Given the description of an element on the screen output the (x, y) to click on. 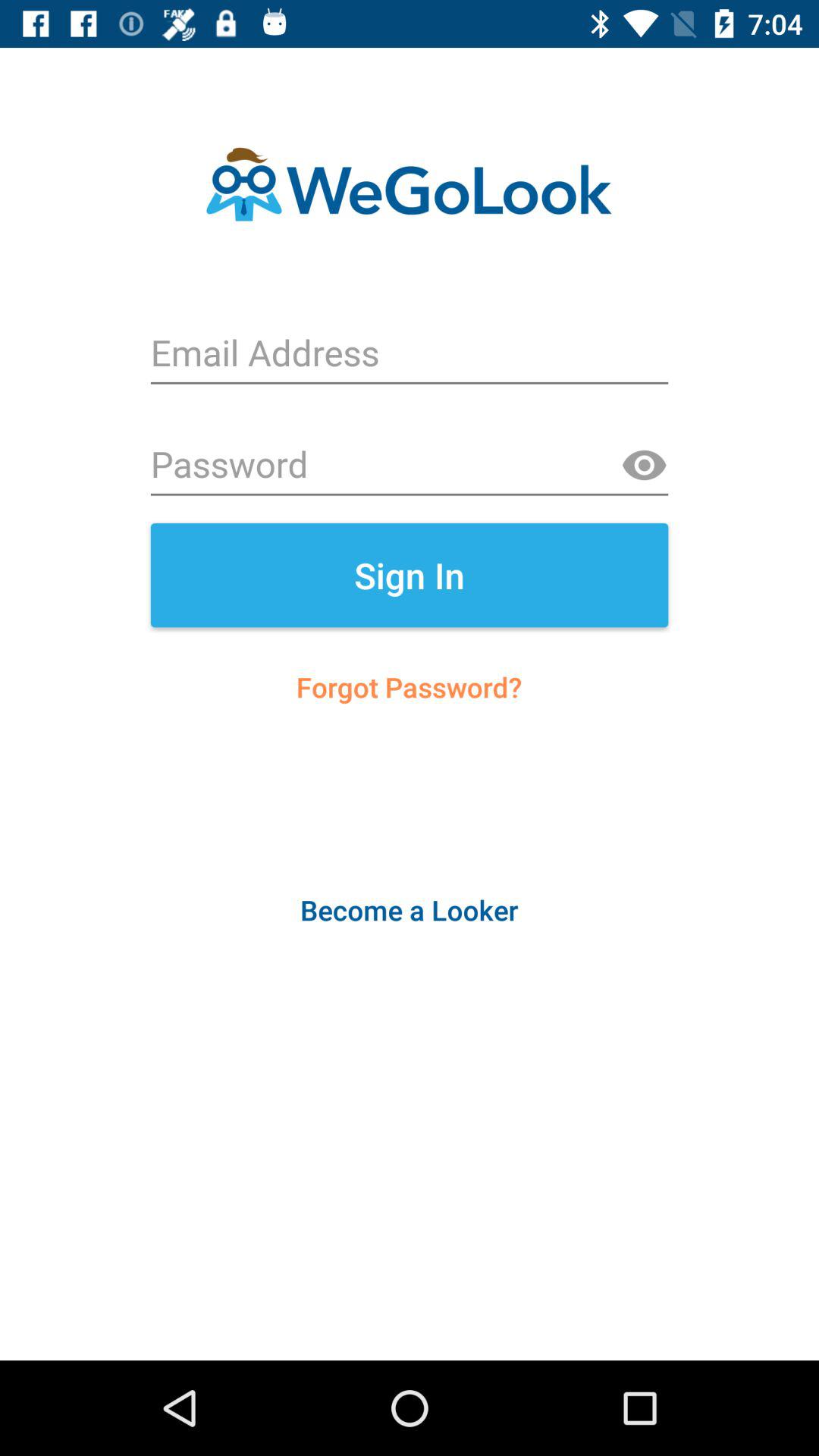
enter the password (409, 466)
